Given the description of an element on the screen output the (x, y) to click on. 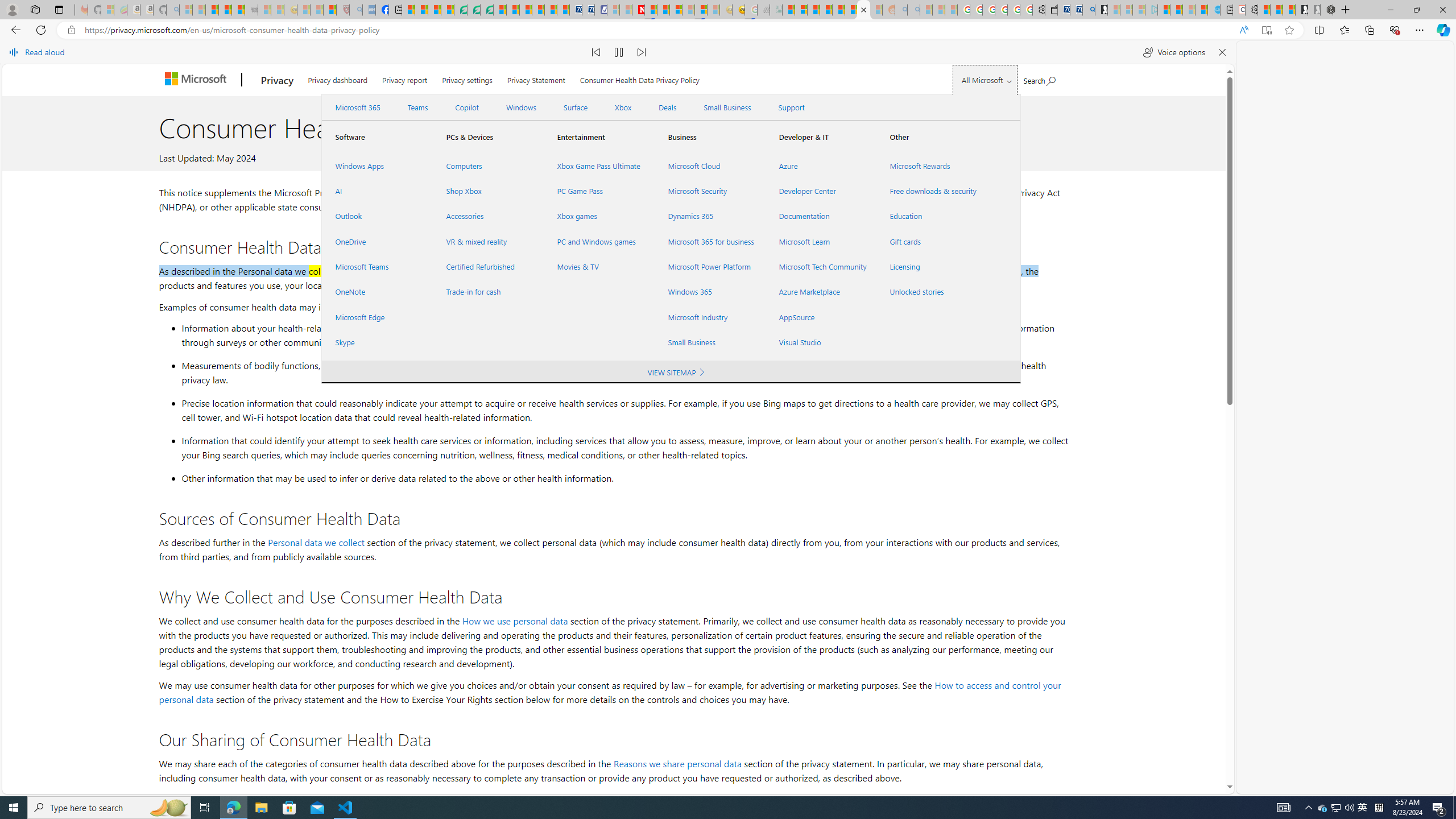
OneNote (376, 291)
Certified Refurbished (487, 266)
Windows Apps (376, 165)
OneNote (376, 291)
New Report Confirms 2023 Was Record Hot | Watch (237, 9)
Documentation (820, 216)
Microsoft Power Platform (709, 266)
Copilot (466, 107)
Dynamics 365 (709, 216)
Privacy settings (466, 77)
